Given the description of an element on the screen output the (x, y) to click on. 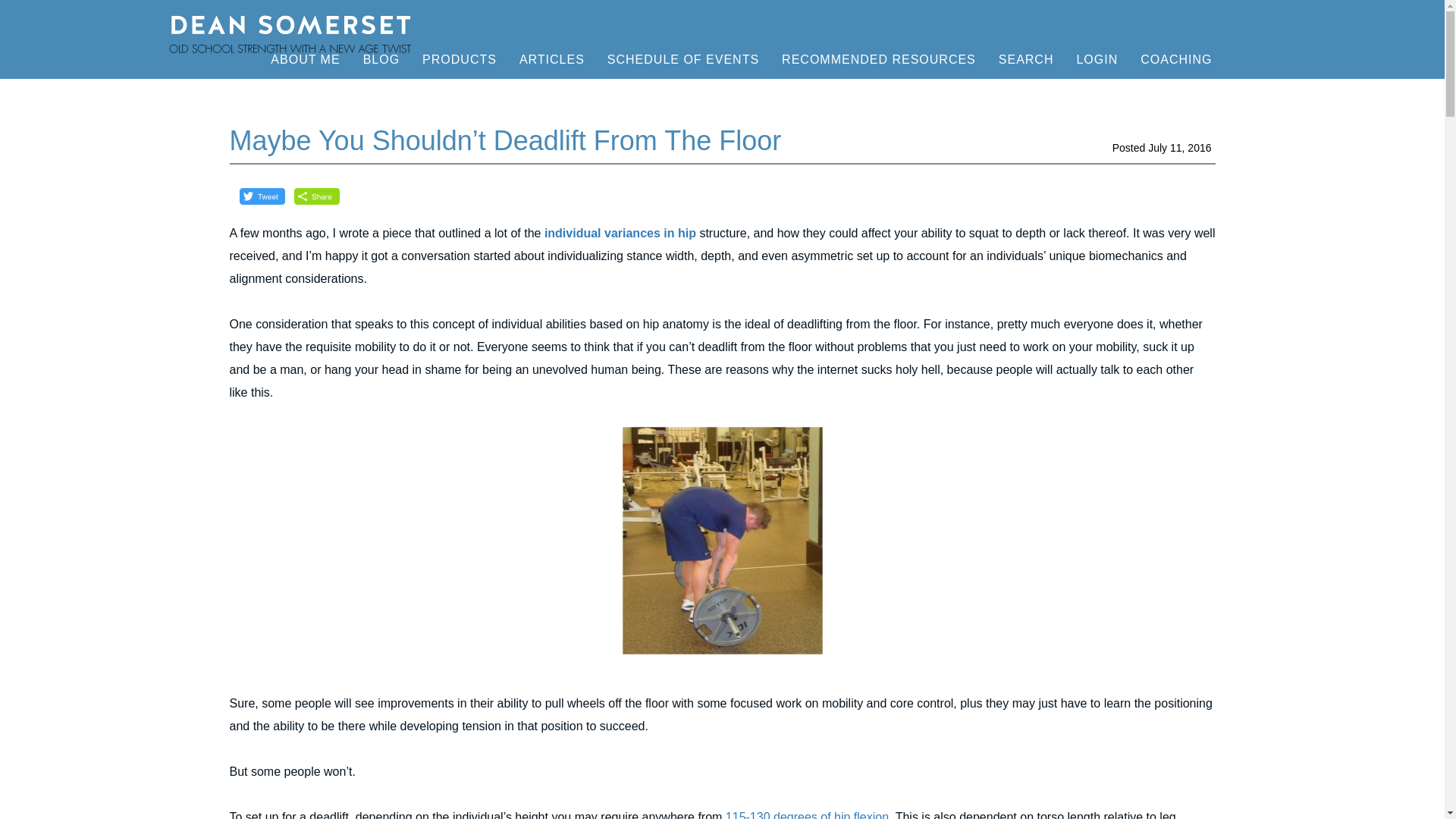
ABOUT ME (304, 59)
115-130 degrees of hip flexion (806, 814)
LOGIN (1096, 59)
ARTICLES (552, 59)
RECOMMENDED RESOURCES (878, 59)
SEARCH (1026, 59)
BLOG (380, 59)
COACHING (1175, 59)
PRODUCTS (459, 59)
PRODUCTS (447, 59)
